Given the description of an element on the screen output the (x, y) to click on. 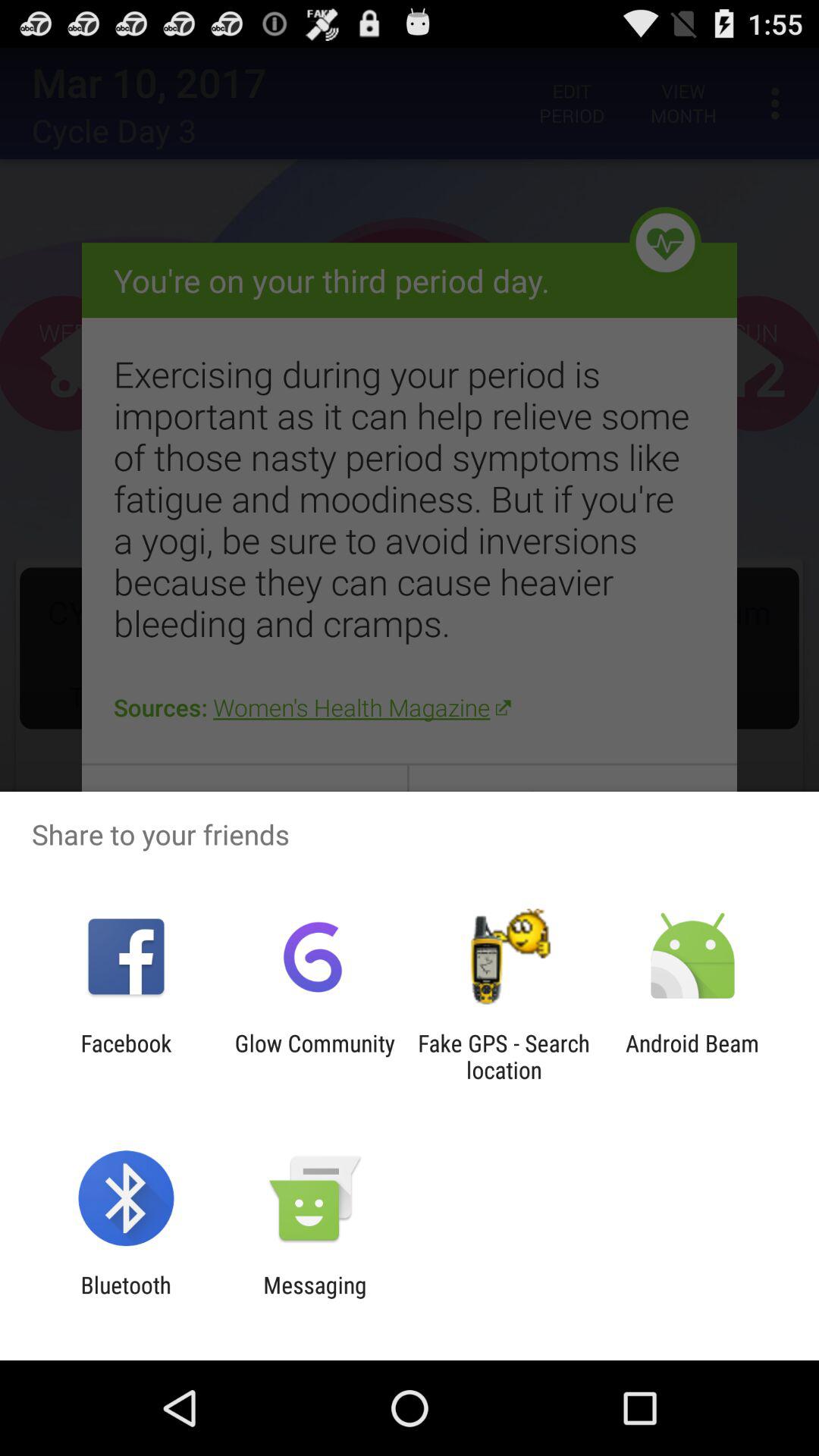
click fake gps search icon (503, 1056)
